Given the description of an element on the screen output the (x, y) to click on. 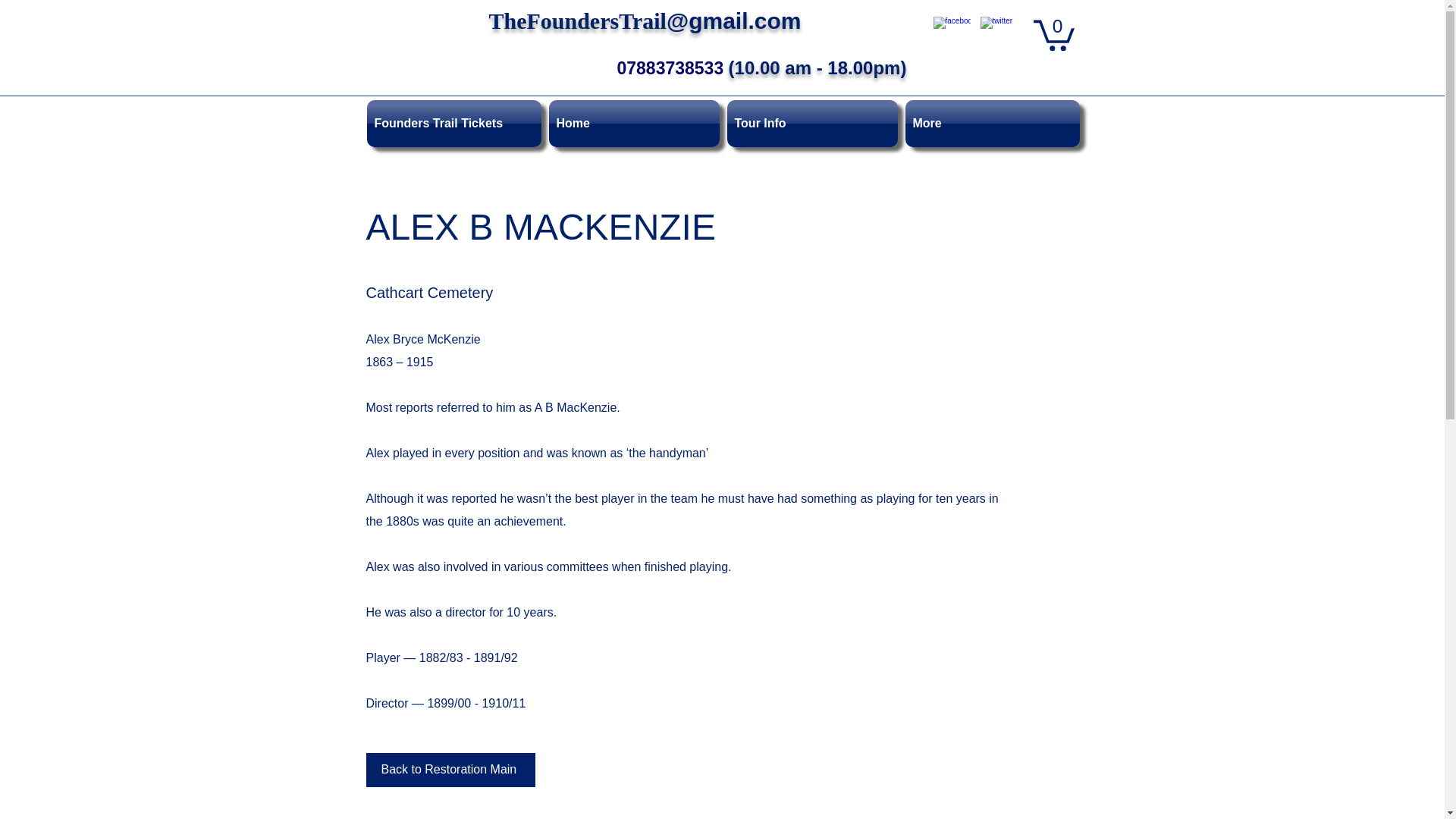
0 (1053, 33)
0 (1053, 33)
Home (633, 123)
Founders Trail Tickets (455, 123)
Back to Restoration Main (449, 769)
Tour Info (812, 123)
